Given the description of an element on the screen output the (x, y) to click on. 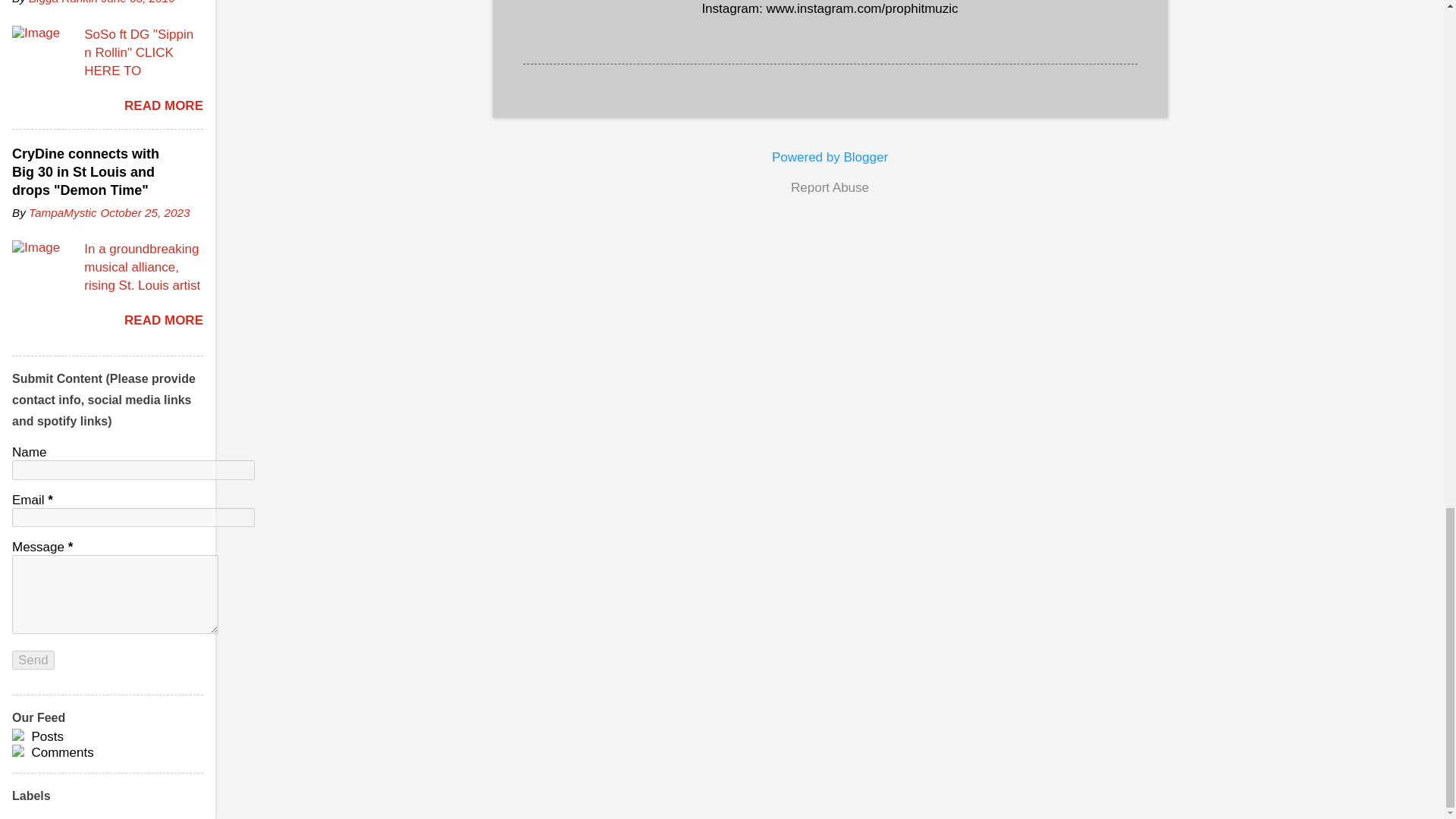
Powered by Blogger (829, 156)
Send (33, 660)
Report Abuse (829, 188)
